Given the description of an element on the screen output the (x, y) to click on. 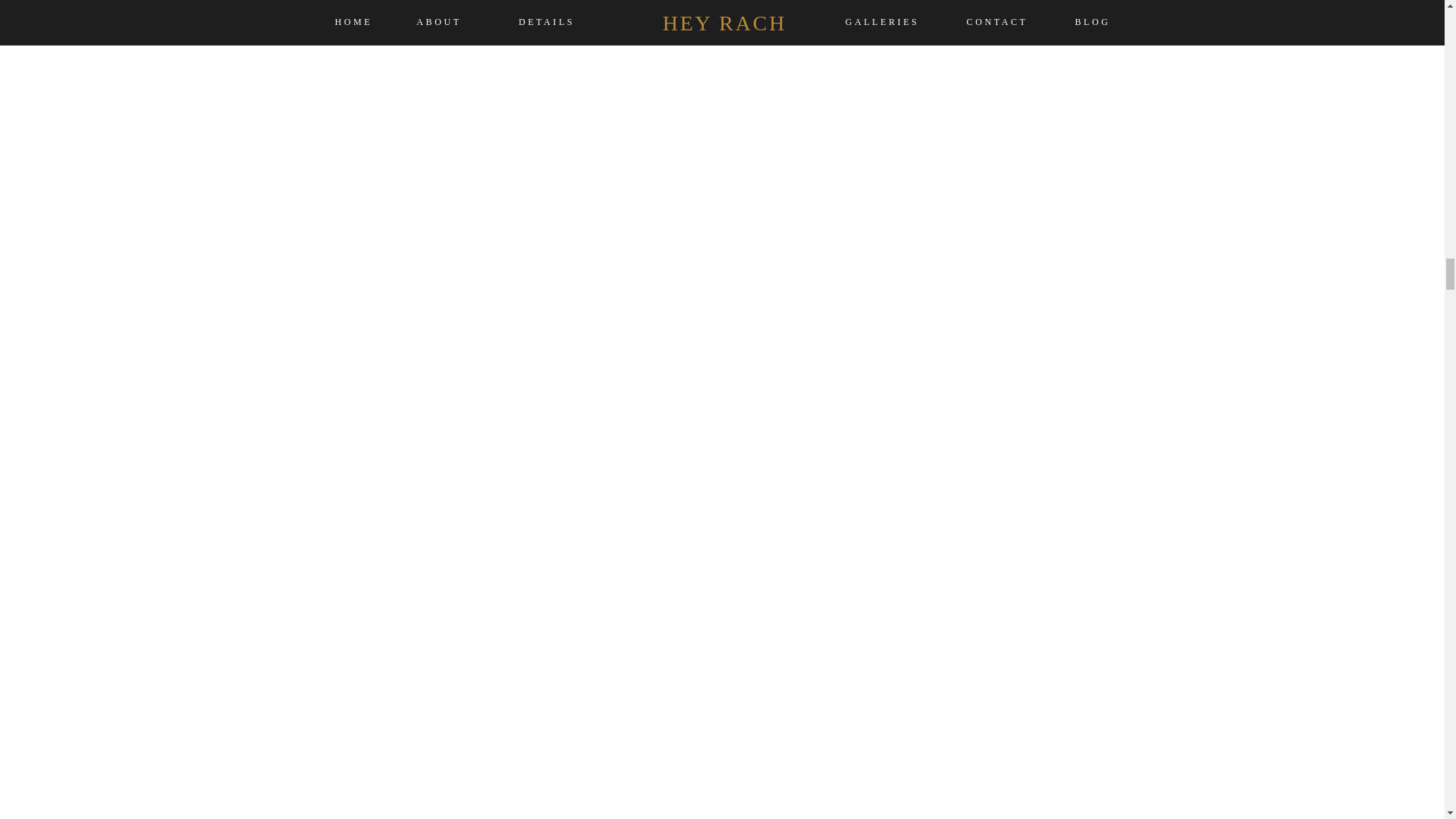
baylie-3046 (721, 31)
baylie-2-16 (877, 173)
baylie-2-15 (566, 173)
